Given the description of an element on the screen output the (x, y) to click on. 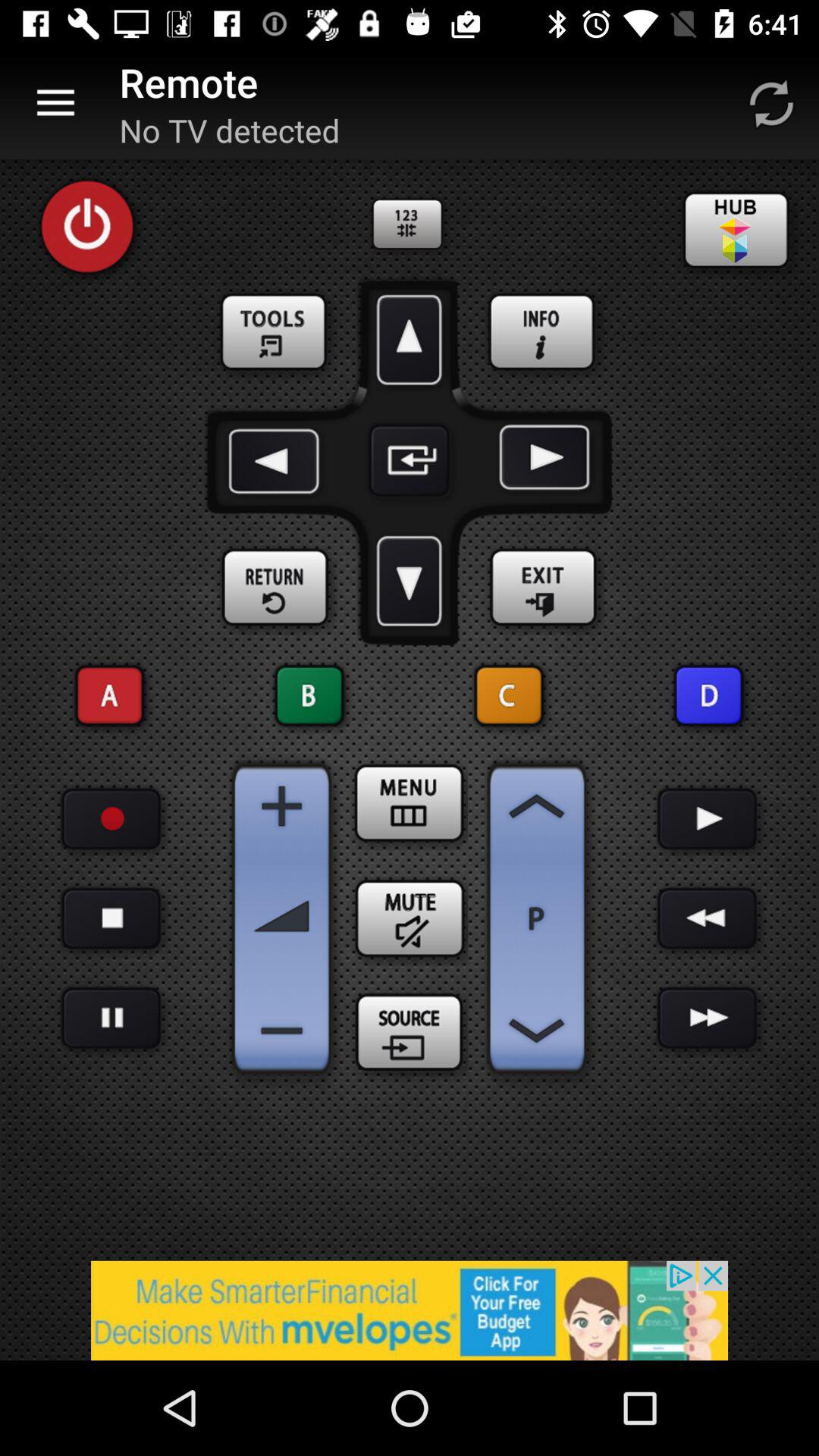
select left (276, 460)
